Given the description of an element on the screen output the (x, y) to click on. 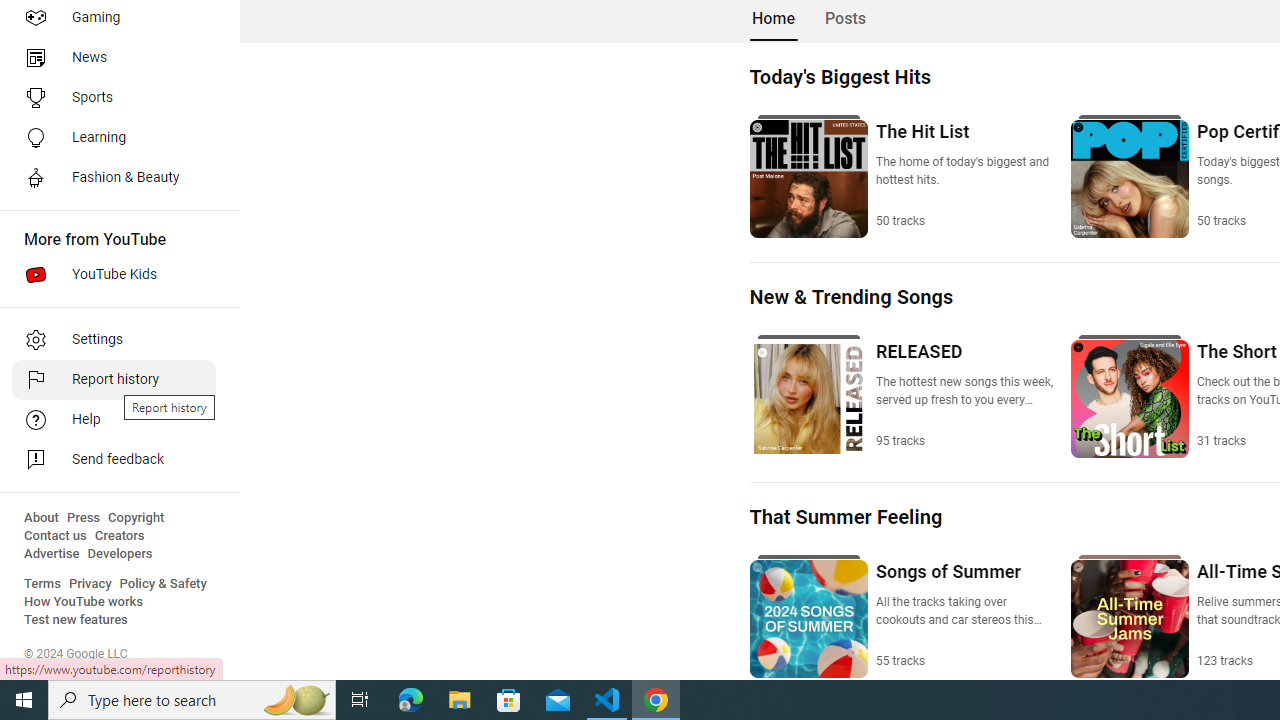
Contact us (55, 536)
New & Trending Songs (850, 296)
Creators (118, 536)
About (41, 518)
Sports (113, 97)
Advertise (51, 554)
News (113, 57)
Press (83, 518)
YouTube Kids (113, 274)
